Given the description of an element on the screen output the (x, y) to click on. 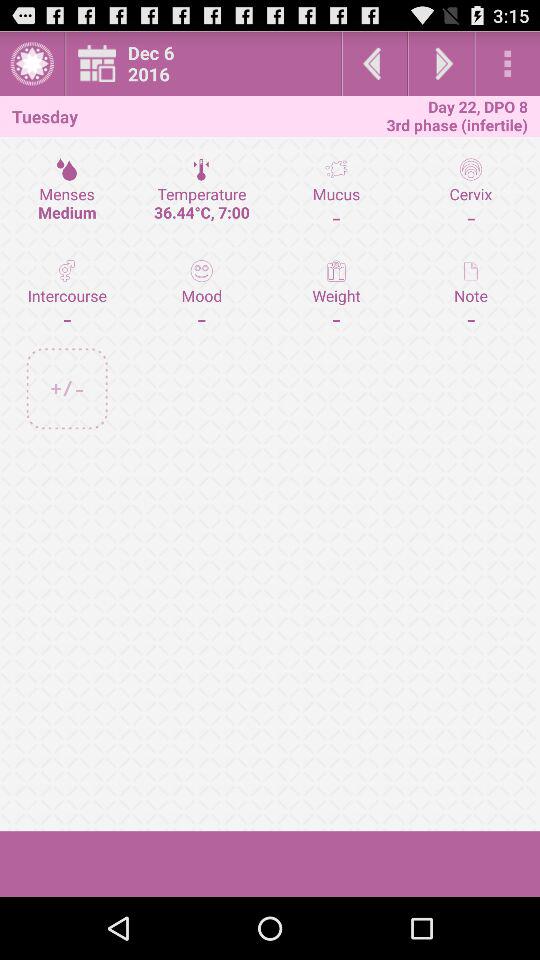
flip until +/- icon (66, 388)
